Given the description of an element on the screen output the (x, y) to click on. 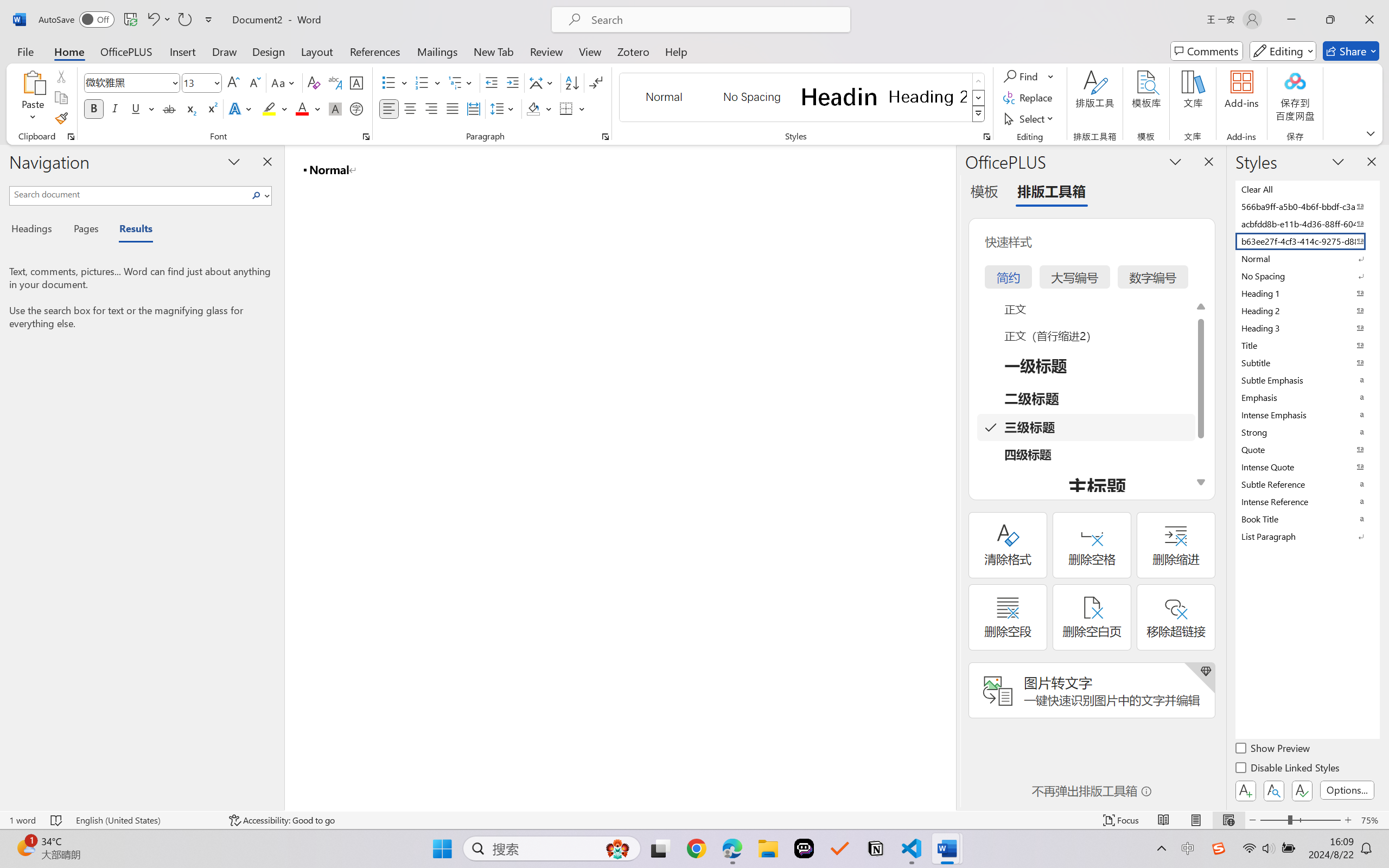
Options... (1346, 789)
Zotero (632, 51)
Microsoft search (715, 19)
Format Painter (60, 118)
Shading RGB(0, 0, 0) (533, 108)
AutomationID: QuickStylesGallery (802, 97)
Pages (85, 229)
Ribbon Display Options (1370, 132)
Grow Font (233, 82)
